Given the description of an element on the screen output the (x, y) to click on. 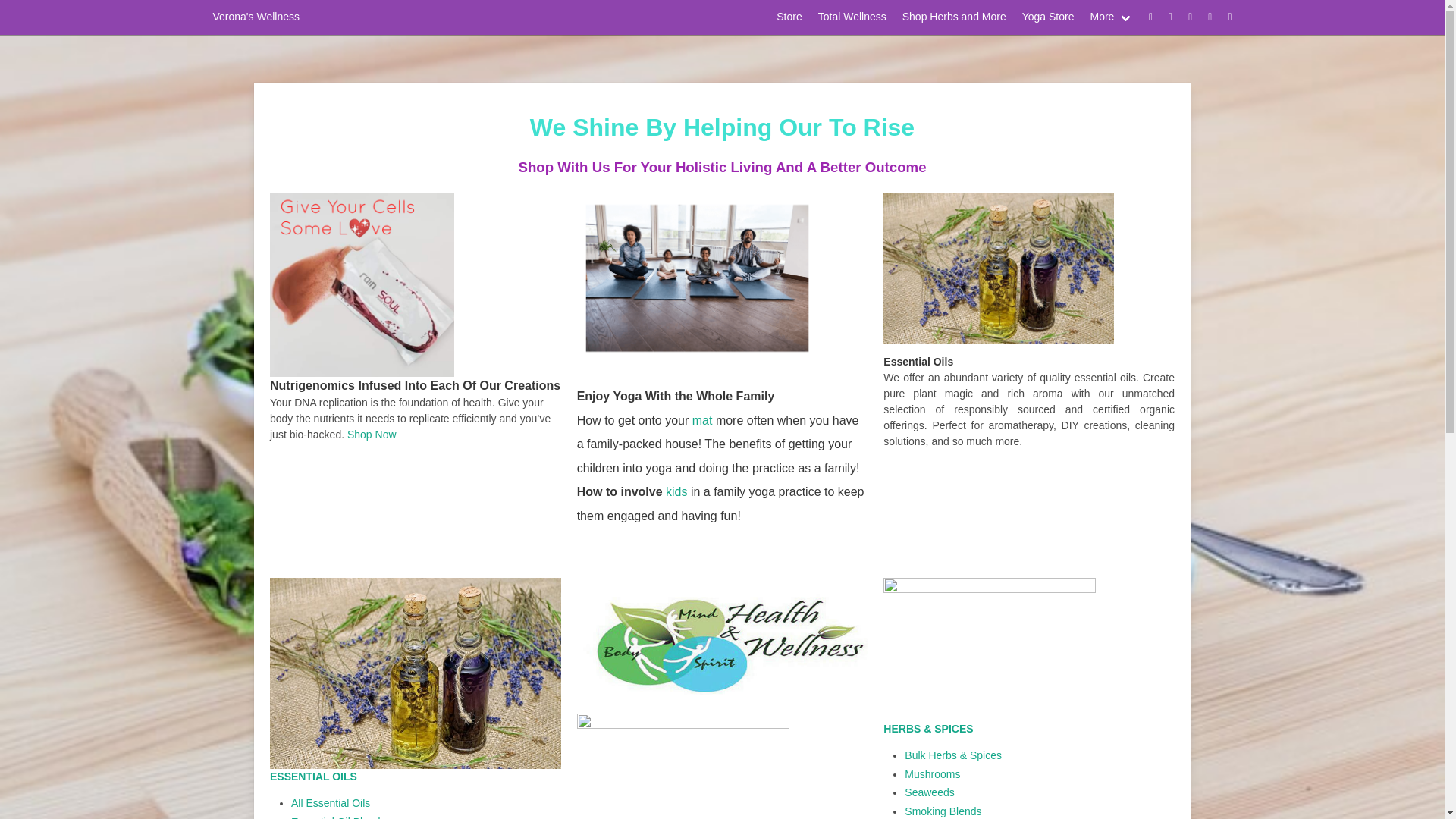
We Shine By Helping Our To Rise (721, 126)
All Essential Oils (330, 802)
Shop Now (371, 433)
Verona's Wellness The Holistic Wellness Company (722, 166)
Total Wellness (851, 17)
Shop Seed Nutrition (414, 284)
Store (788, 17)
Yoga Out Let (721, 276)
ESSENTIAL OILS (312, 776)
Verona's Wellness The Holistic Wellness Company (721, 126)
Shop Herbs and More (953, 17)
kids (676, 491)
Essential Oil Blends (338, 817)
